Given the description of an element on the screen output the (x, y) to click on. 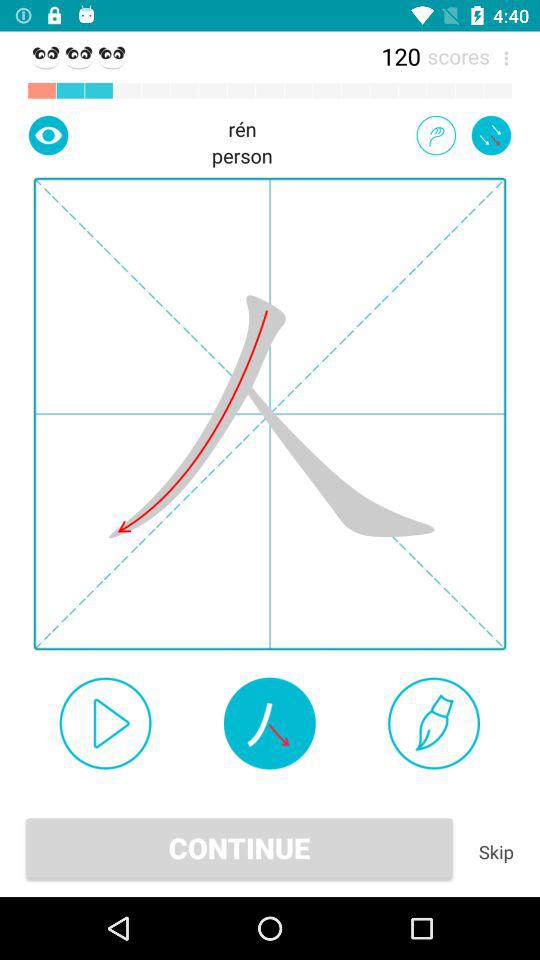
use this brush to start (434, 723)
